Given the description of an element on the screen output the (x, y) to click on. 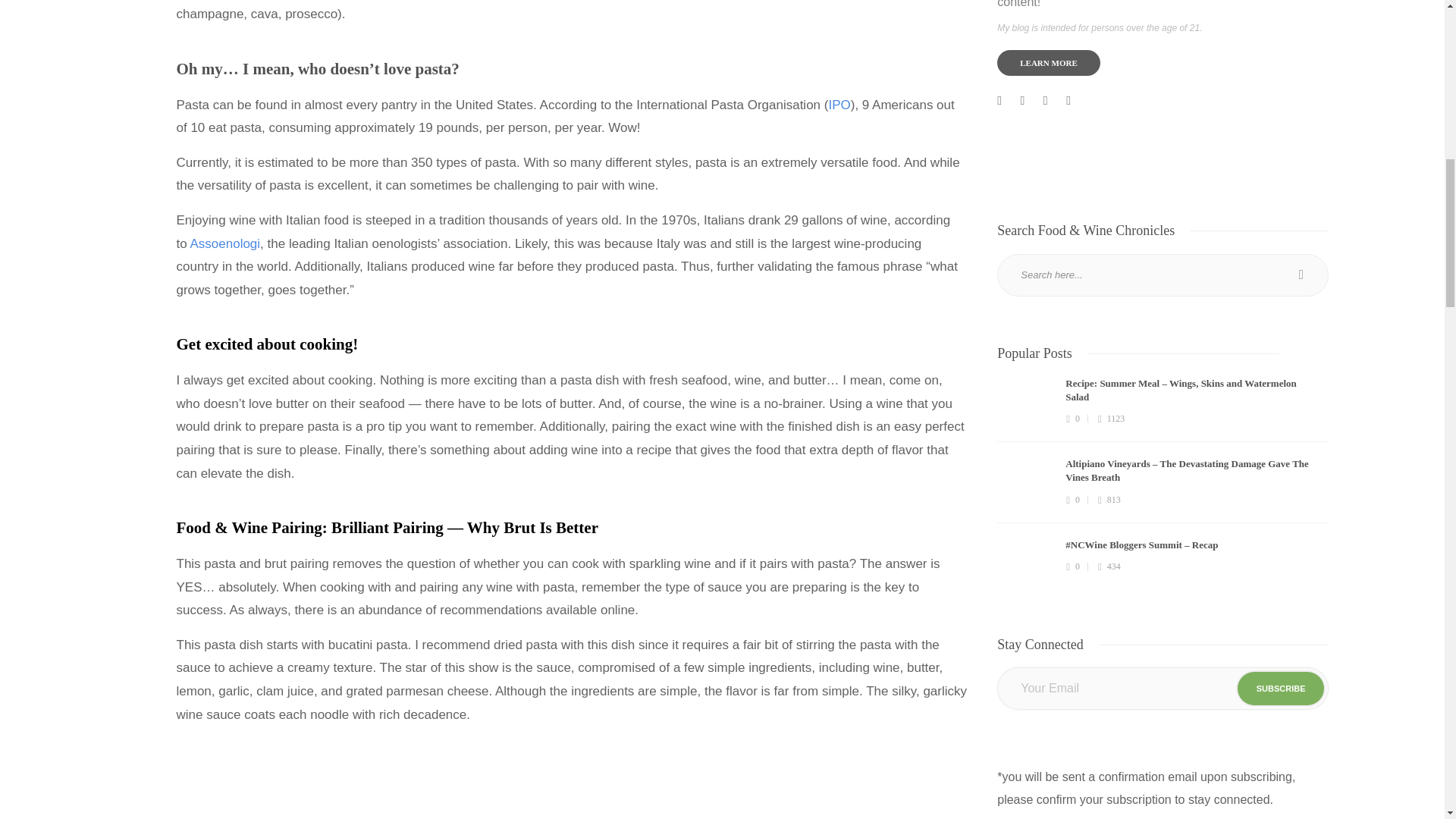
Search text (1162, 274)
Subscribe (1280, 688)
